Given the description of an element on the screen output the (x, y) to click on. 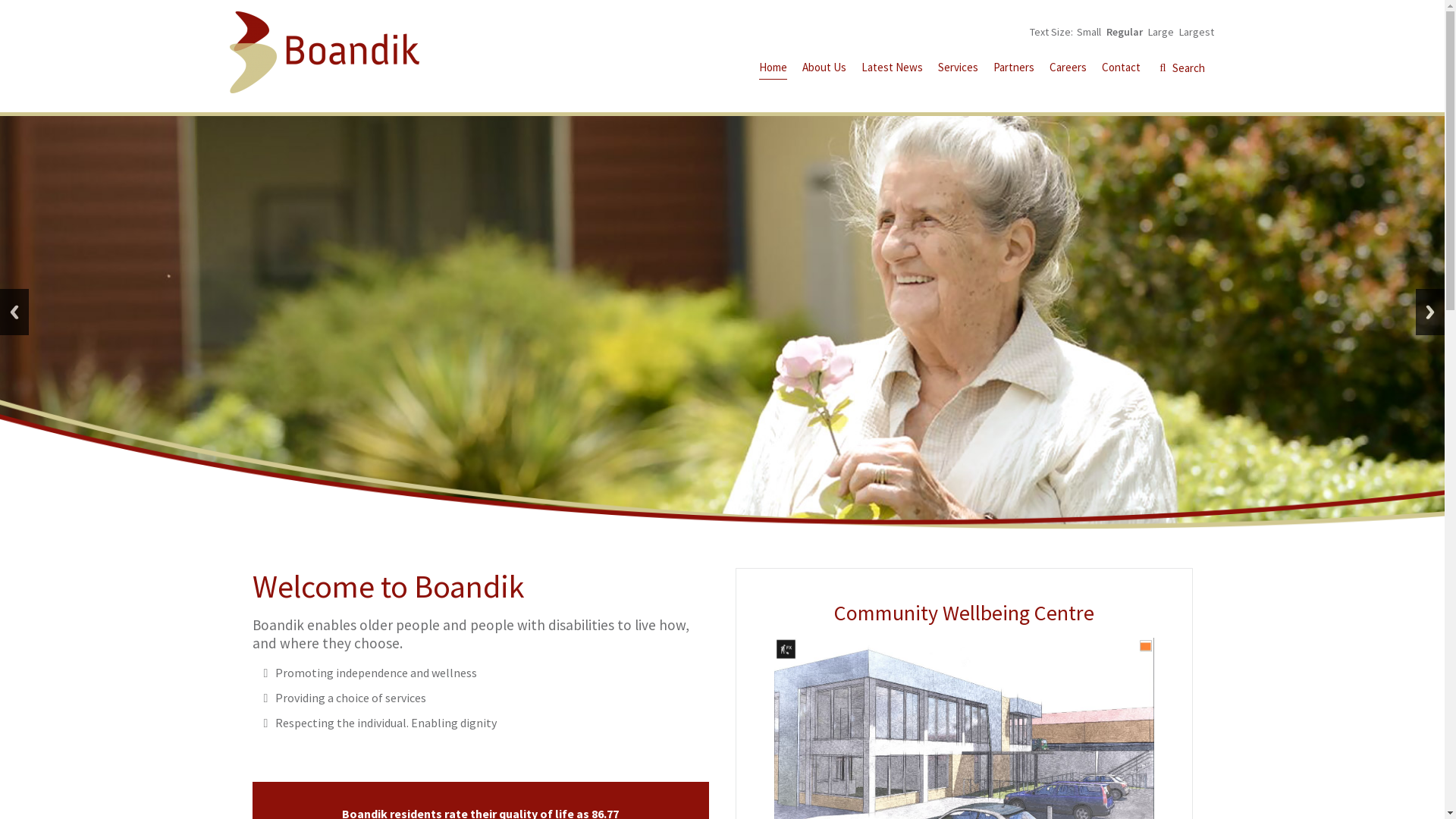
Regular Element type: text (1123, 31)
Services Element type: text (957, 68)
Home Element type: text (772, 69)
Partners Element type: text (1013, 68)
Latest News Element type: text (891, 68)
About Us Element type: text (824, 68)
Contact Element type: text (1120, 68)
Boandik Element type: hover (323, 52)
Large Element type: text (1160, 31)
Largest Element type: text (1195, 31)
Small Element type: text (1088, 31)
Careers Element type: text (1067, 68)
